Given the description of an element on the screen output the (x, y) to click on. 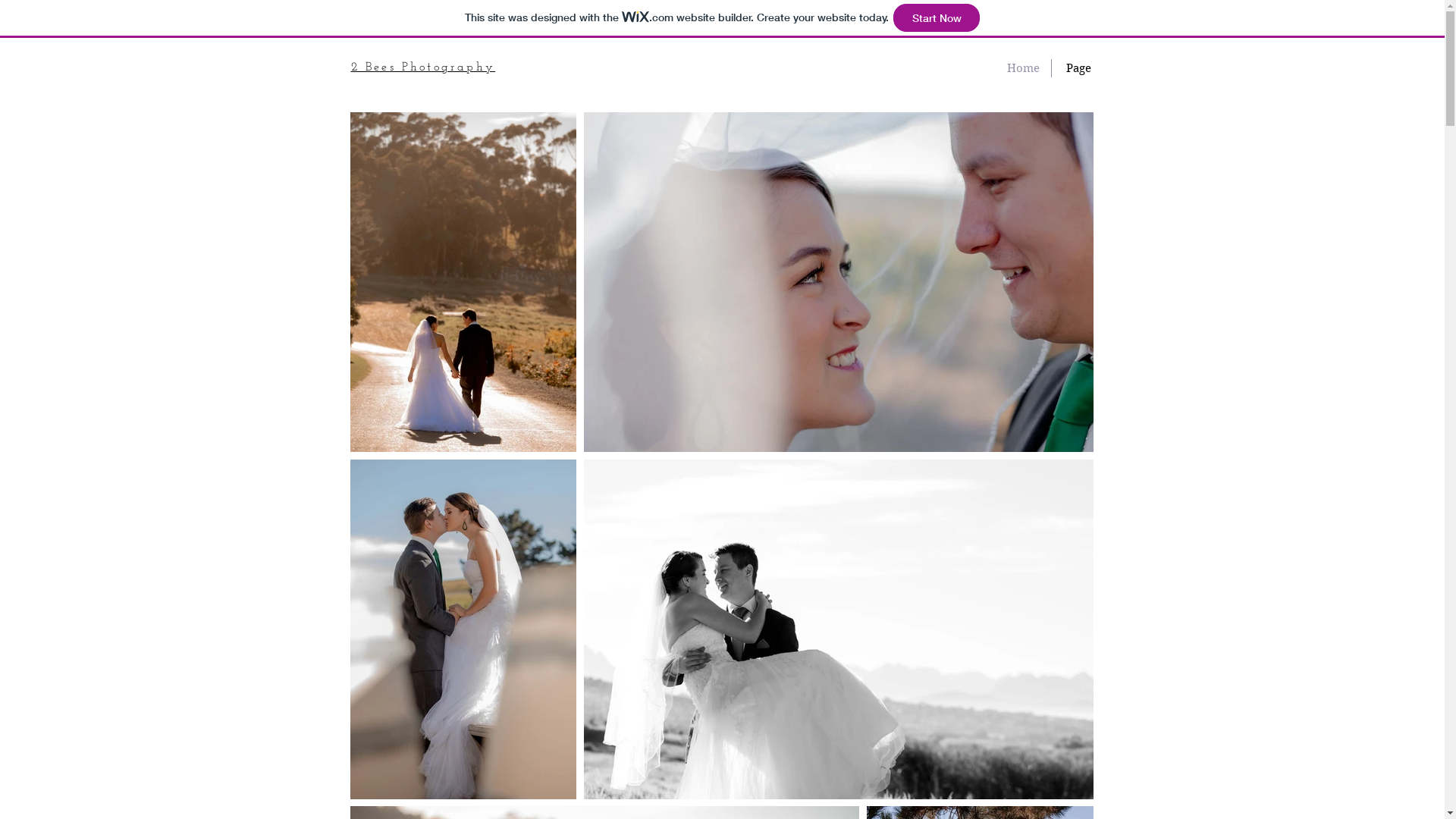
Embedded Content Element type: hover (437, 184)
Home Element type: text (1022, 68)
Page Element type: text (1078, 68)
2 Bees Photography Element type: text (422, 66)
Embedded Content Element type: hover (120, 792)
Embedded Content Element type: hover (1006, 184)
